Given the description of an element on the screen output the (x, y) to click on. 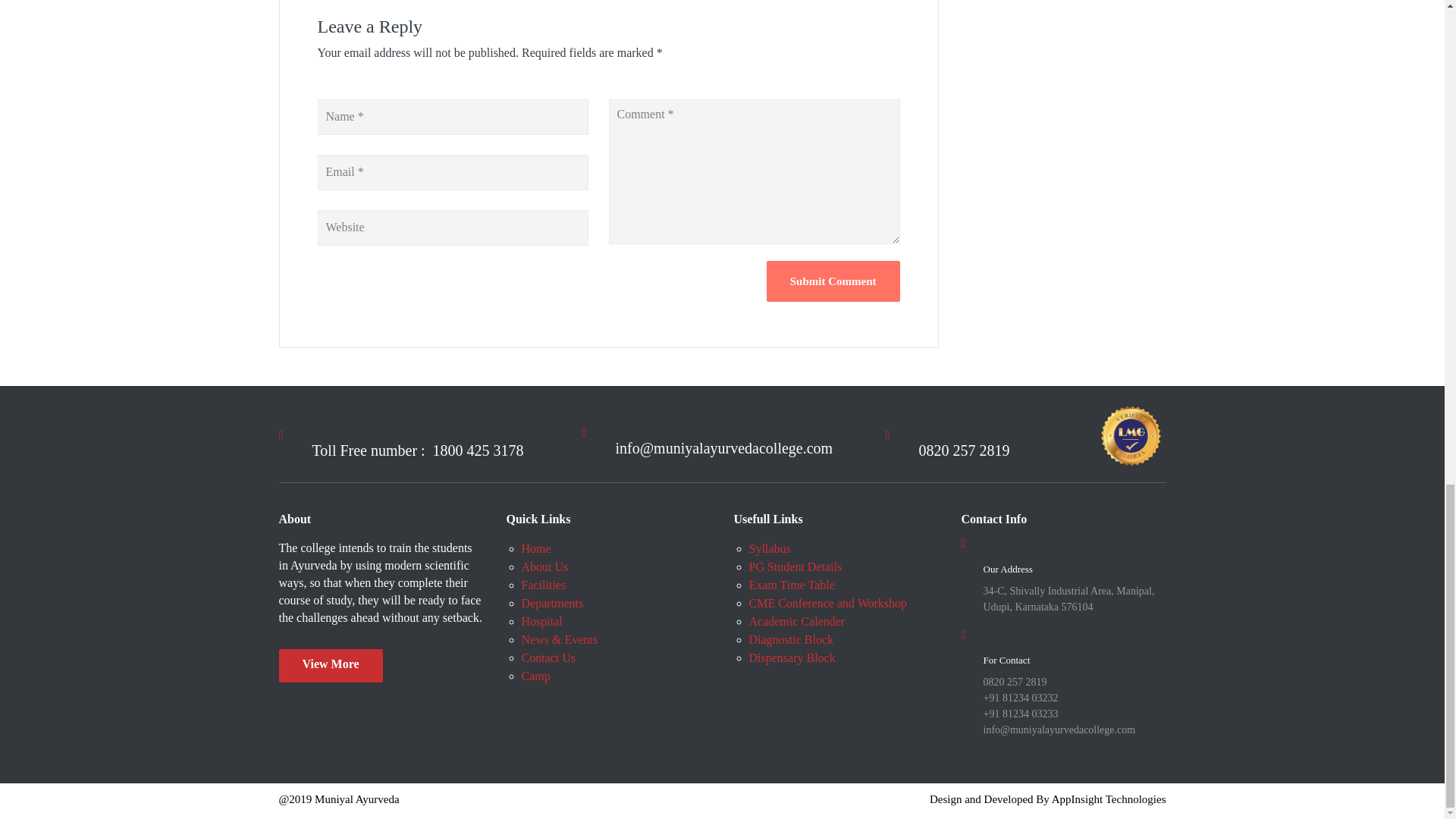
Toll Free Number (418, 450)
About Us (330, 665)
LMG  Verified (1130, 435)
Submit Comment (833, 281)
